Given the description of an element on the screen output the (x, y) to click on. 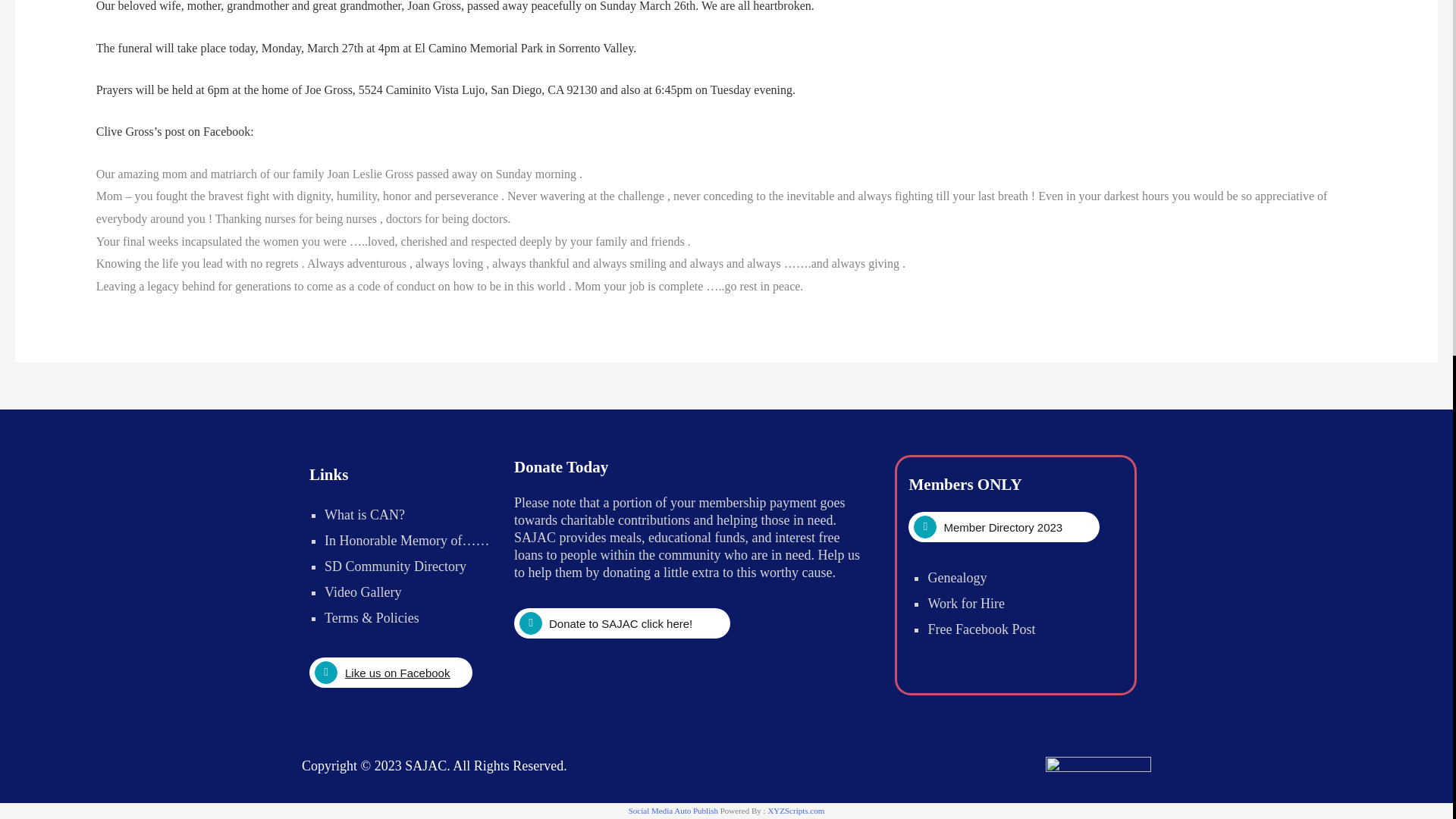
Member Directory 2023 (1003, 526)
Like us on Facebook (389, 672)
Social Media Auto Publish (672, 809)
Social Media Auto Publish (672, 809)
Genealogy (957, 577)
Work for Hire (965, 603)
XYZScripts.com (795, 809)
Donate to SAJAC click here! (621, 623)
Video Gallery (362, 591)
SD Community Directory (394, 566)
